Given the description of an element on the screen output the (x, y) to click on. 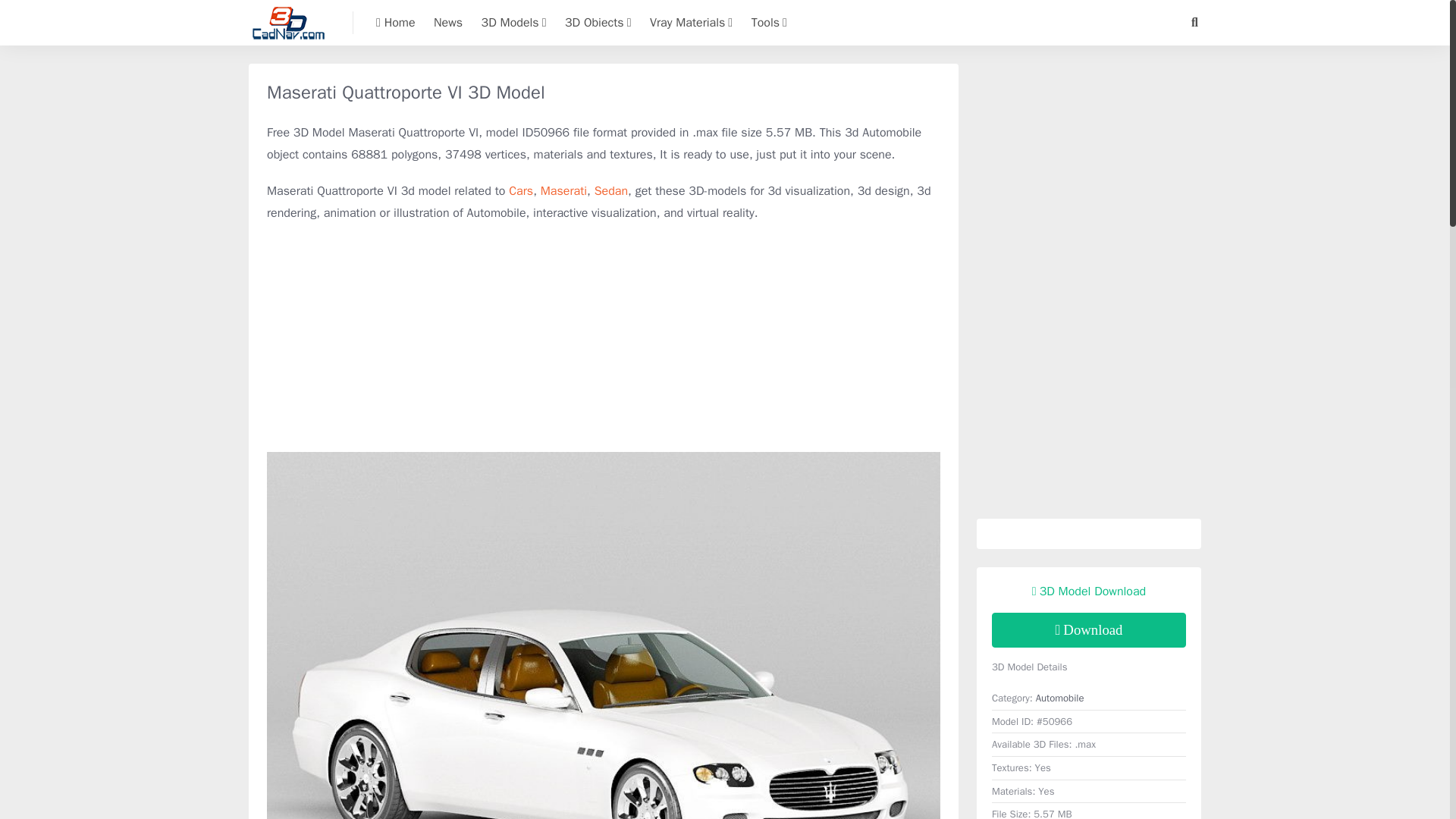
Cars 3d model (520, 191)
3D Obiects (597, 22)
Maserati 3d model (563, 191)
3D Models (514, 22)
download Maserati Quattroporte VI 3d model (1088, 629)
Sedan 3d model (610, 191)
